Given the description of an element on the screen output the (x, y) to click on. 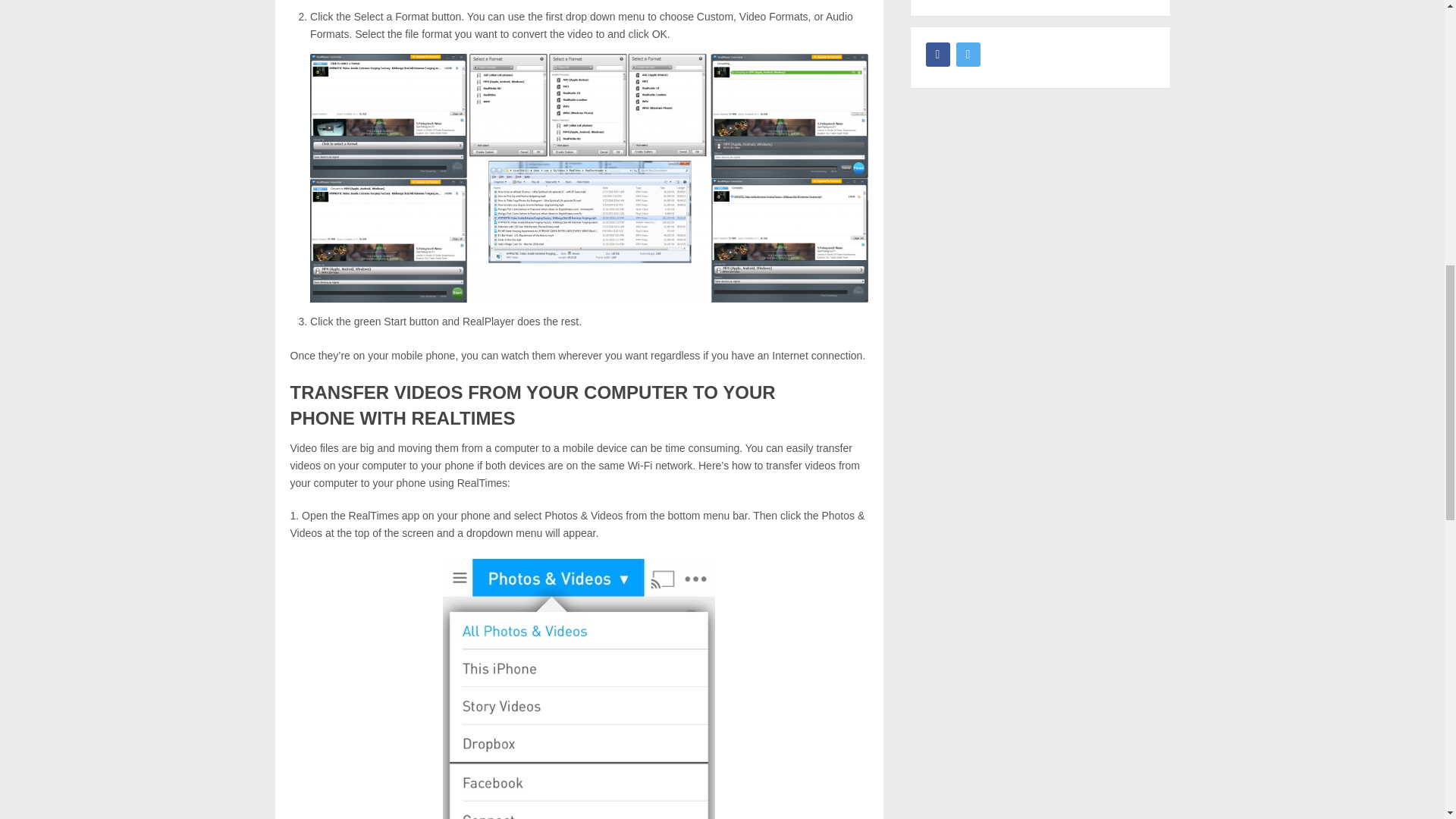
Facebook (936, 54)
Twitter (967, 54)
